Given the description of an element on the screen output the (x, y) to click on. 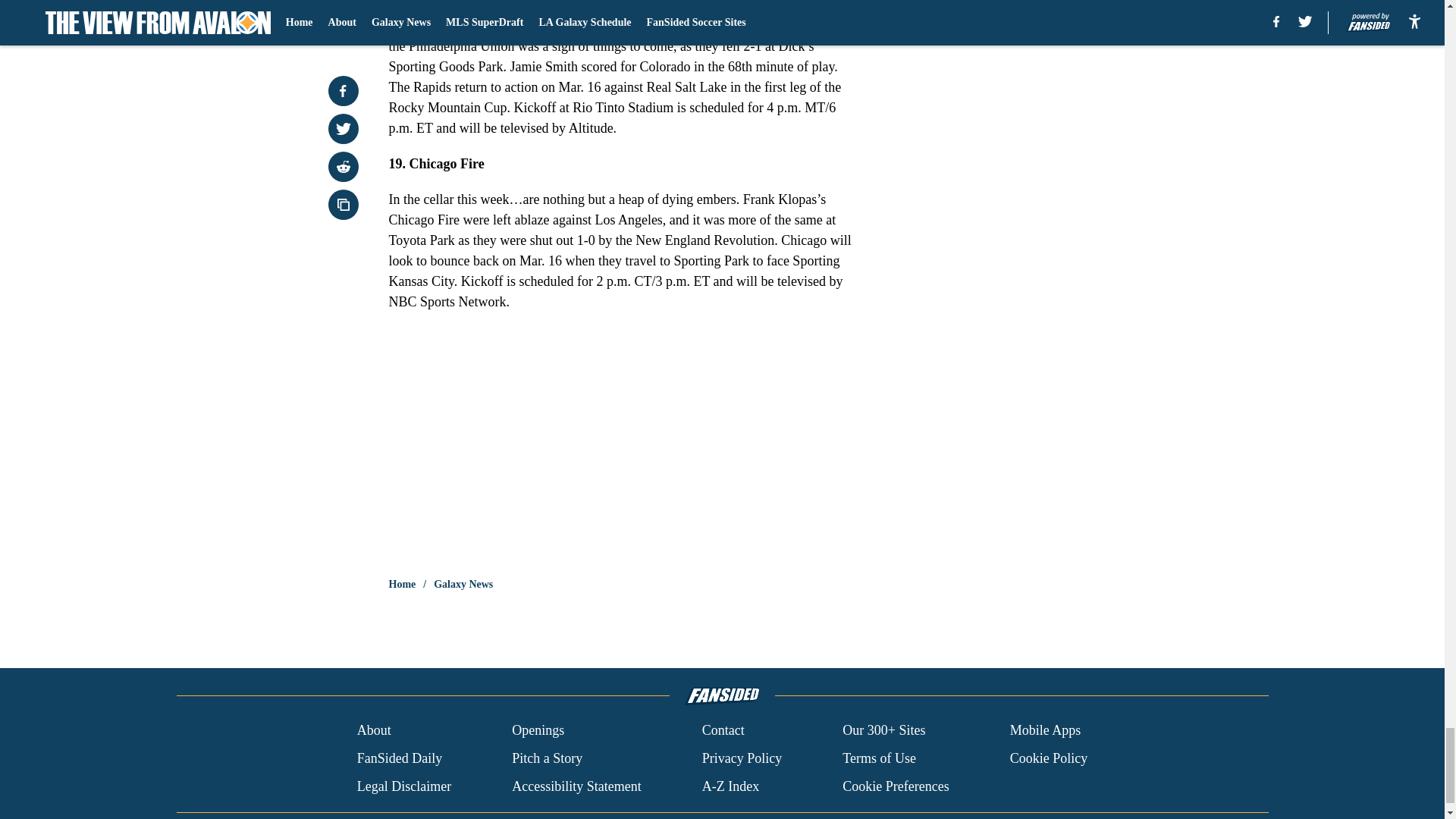
FanSided Daily (399, 758)
Openings (538, 730)
Cookie Policy (1048, 758)
A-Z Index (729, 786)
Galaxy News (463, 584)
Legal Disclaimer (403, 786)
Privacy Policy (742, 758)
About (373, 730)
Home (401, 584)
Accessibility Statement (576, 786)
